Given the description of an element on the screen output the (x, y) to click on. 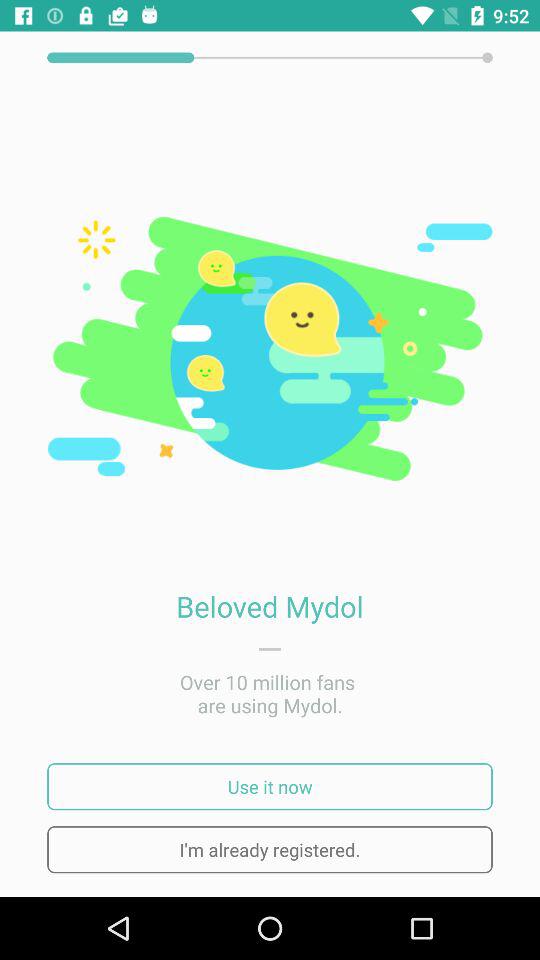
launch i m already icon (269, 849)
